Given the description of an element on the screen output the (x, y) to click on. 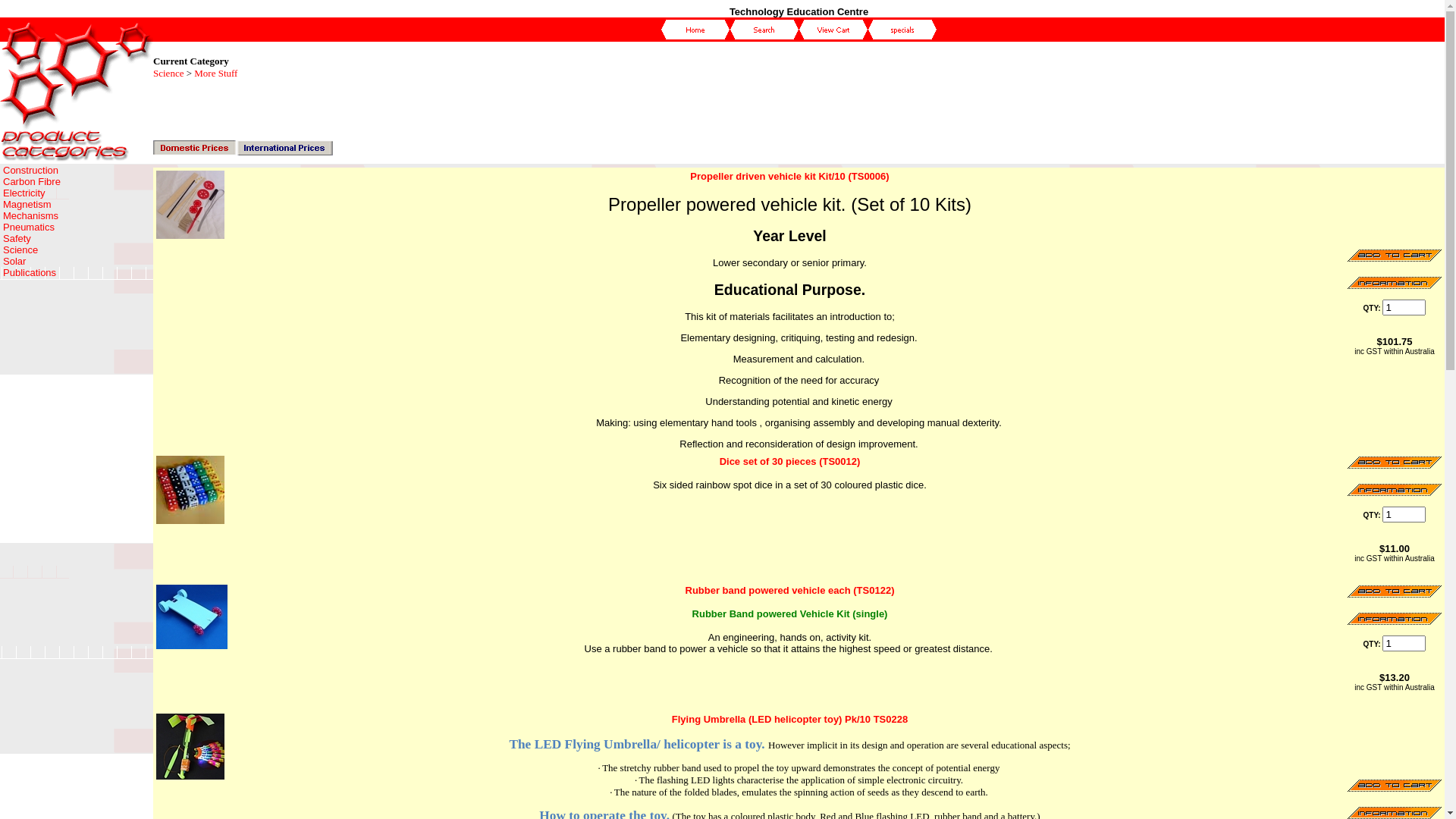
Rubber band powered vehicle each (TS0122) Element type: text (789, 590)
Dice set of 30 pieces (TS0012) Element type: text (789, 461)
Safety Element type: text (17, 238)
Propeller driven vehicle kit Kit/10 (TS0006) Element type: text (789, 176)
Science Element type: text (168, 72)
Mechanisms Element type: text (30, 215)
Carbon Fibre Element type: text (31, 181)
Pneumatics Element type: text (28, 226)
Solar Element type: text (14, 260)
Electricity Element type: text (24, 192)
Magnetism Element type: text (27, 204)
Science Element type: text (20, 249)
More Stuff Element type: text (215, 72)
Construction Element type: text (30, 169)
Publications Element type: text (29, 272)
Flying Umbrella (LED helicopter toy) Pk/10 TS0228 Element type: text (789, 718)
